Given the description of an element on the screen output the (x, y) to click on. 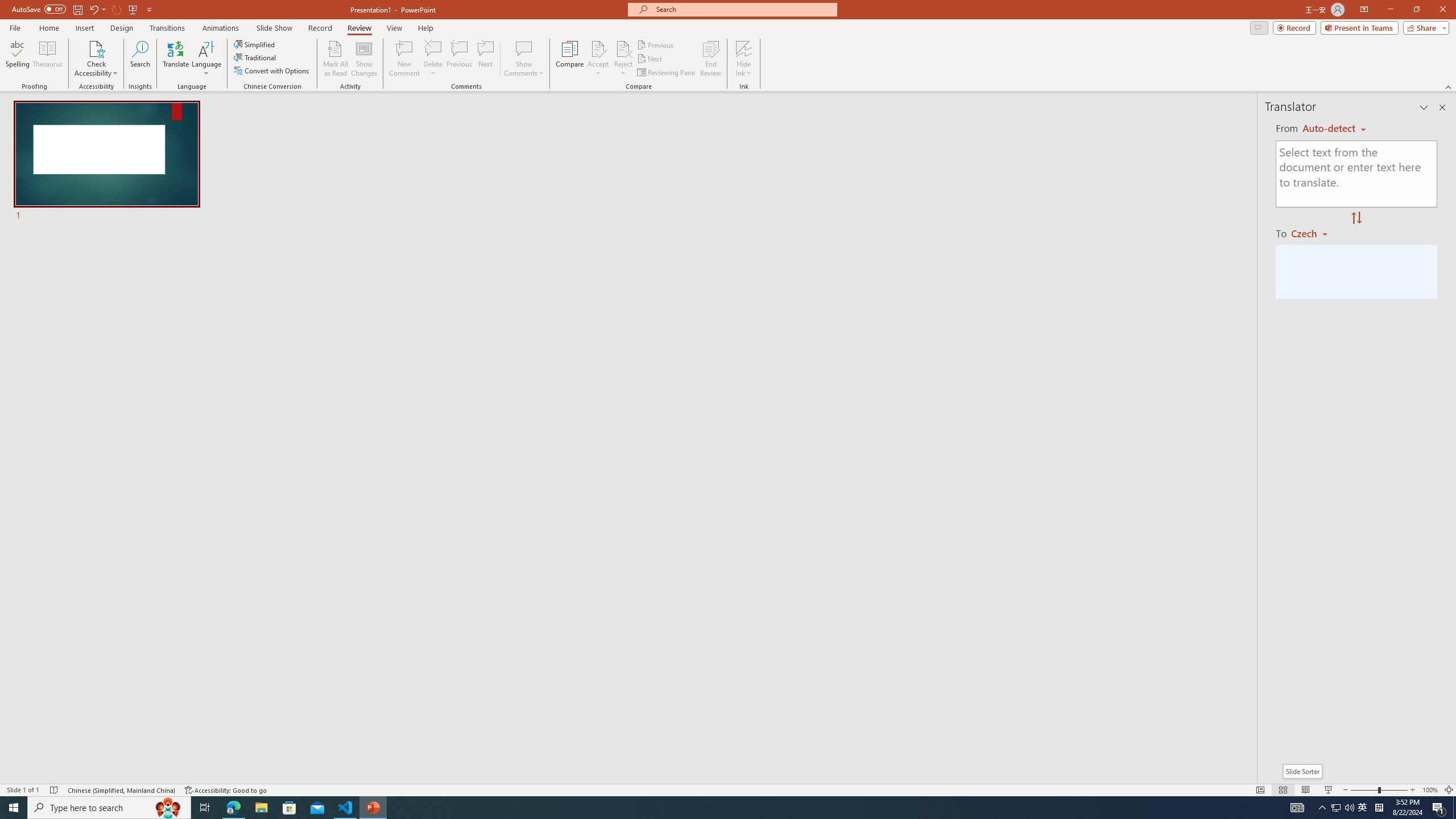
Spelling... (17, 58)
Thesaurus... (47, 58)
Reject Change (622, 48)
Previous (655, 44)
Close pane (1441, 107)
